Given the description of an element on the screen output the (x, y) to click on. 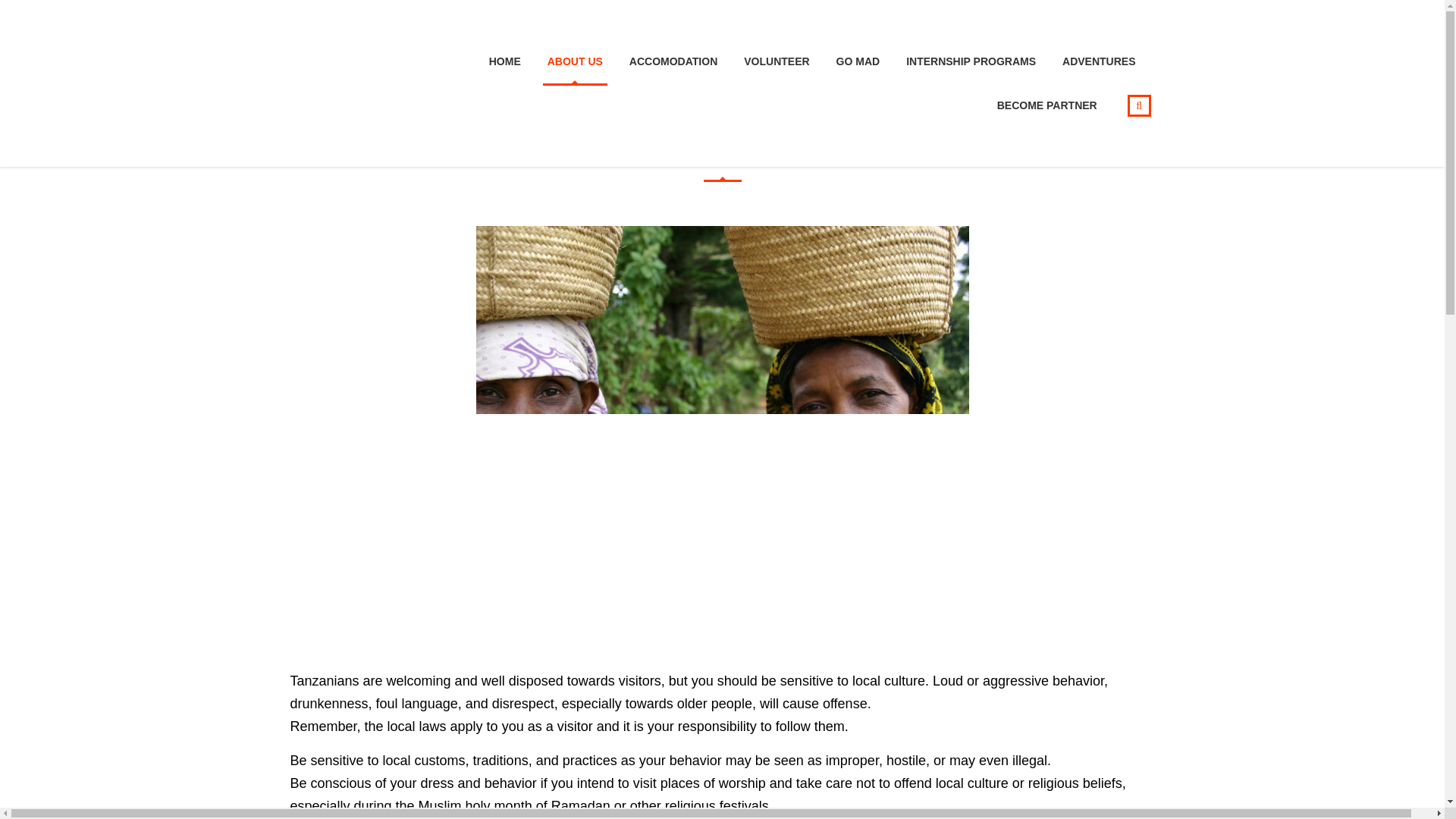
ABOUT US (574, 61)
Amani Hostel - COMFORTABLE HOME (361, 81)
